Given the description of an element on the screen output the (x, y) to click on. 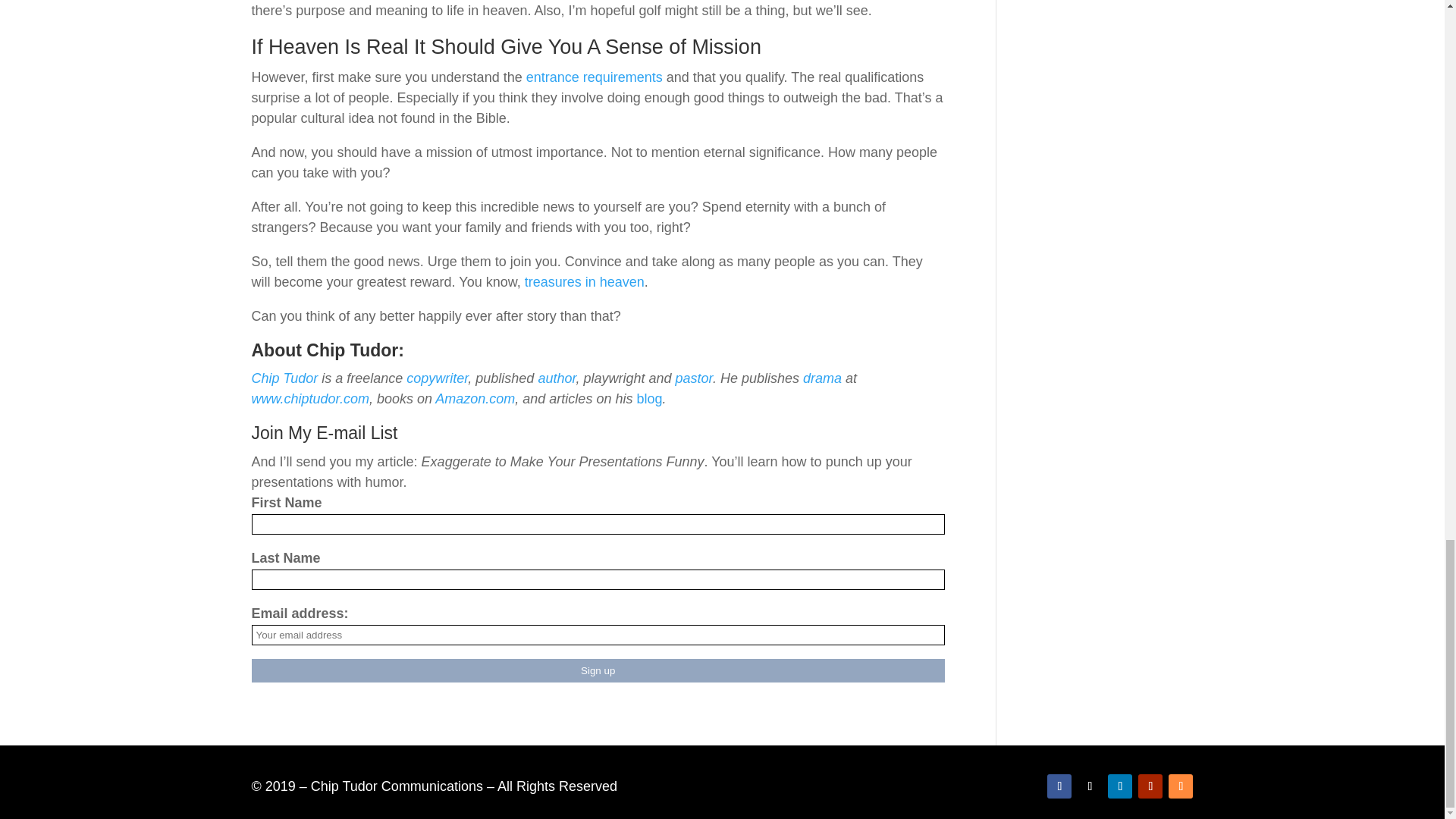
Follow on Facebook (1058, 785)
Sign up (597, 670)
treasures in heaven (584, 281)
entrance requirements (593, 77)
Follow on LinkedIn (1120, 785)
Follow on X (1089, 785)
Follow on Youtube (1149, 785)
Follow on RSS (1180, 785)
Chip Tudor (284, 378)
copywriter (436, 378)
